Given the description of an element on the screen output the (x, y) to click on. 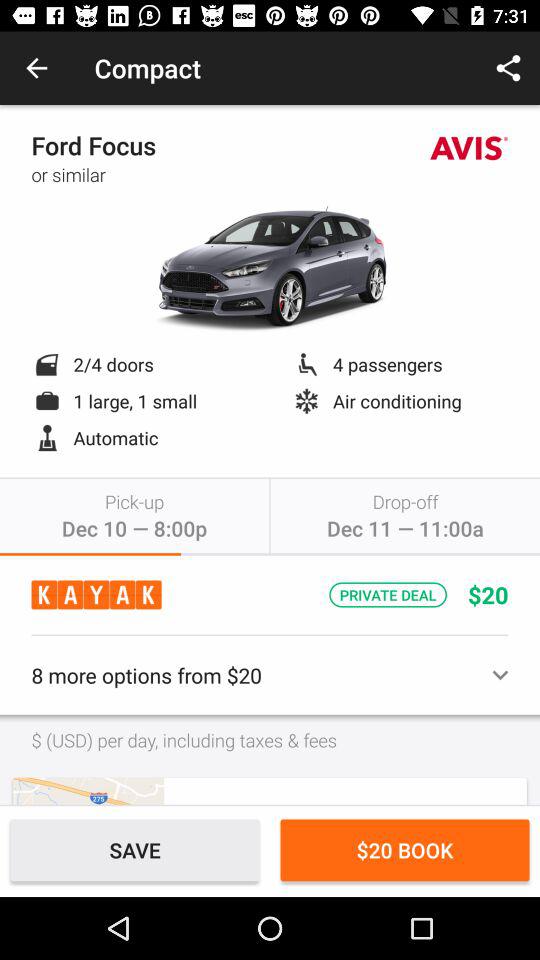
tap $20 book icon (404, 850)
